Given the description of an element on the screen output the (x, y) to click on. 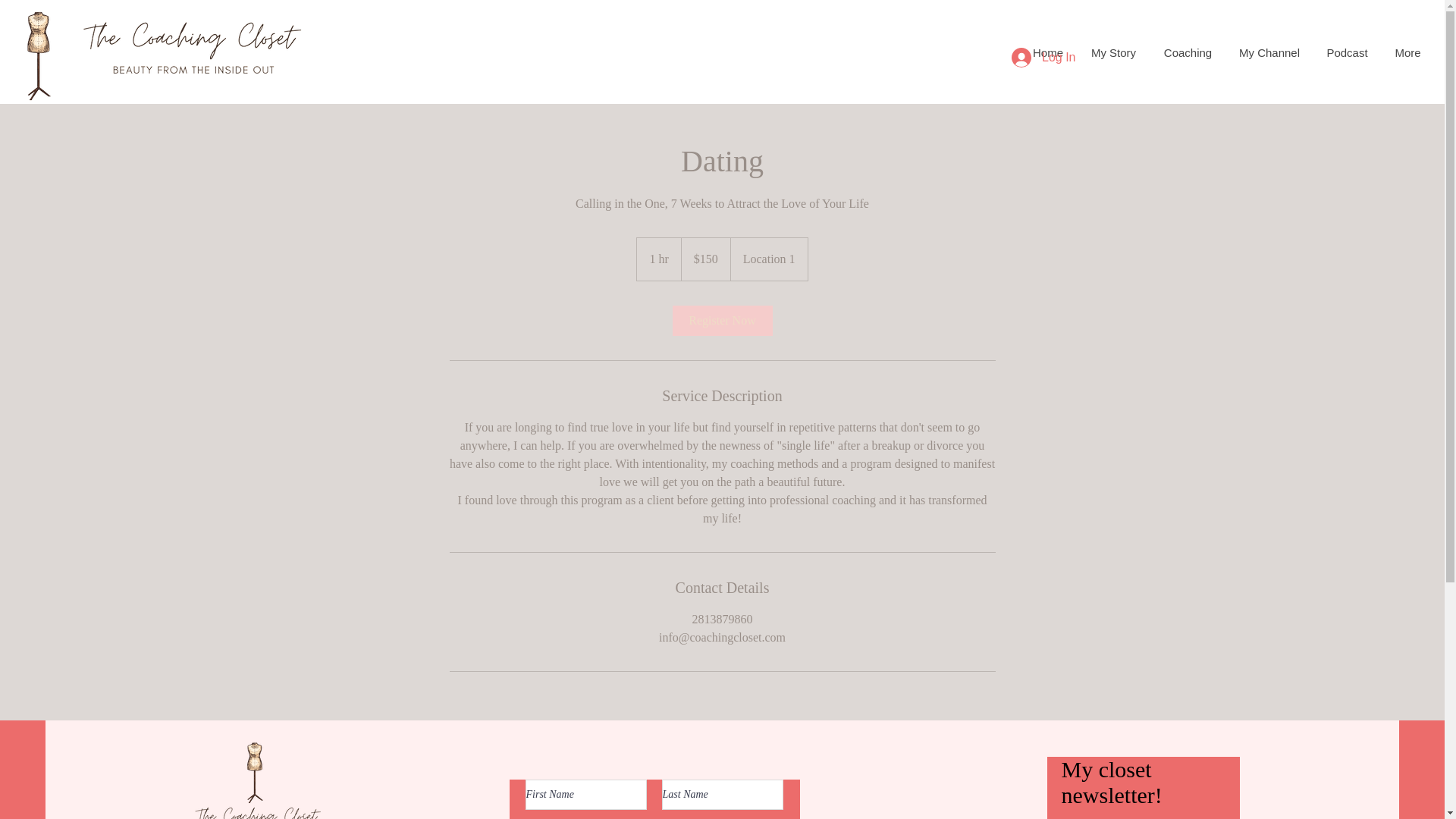
My Channel (1269, 53)
My Story (1113, 53)
Home (1048, 53)
Podcast (1346, 53)
Coaching (1187, 53)
Log In (1043, 57)
Register Now (721, 320)
